Given the description of an element on the screen output the (x, y) to click on. 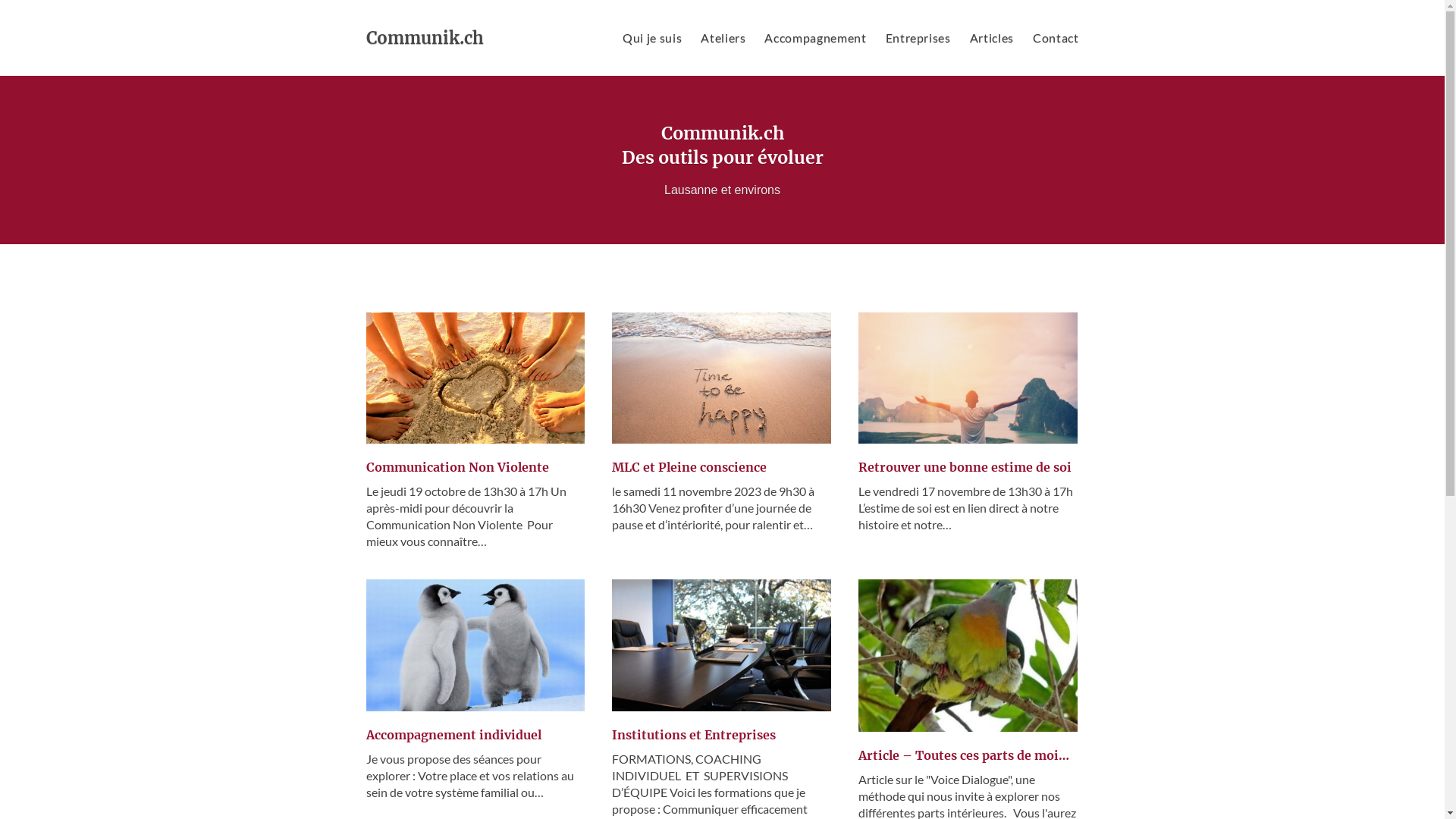
Entreprises Element type: text (917, 37)
MLC et Pleine conscience Element type: text (688, 466)
Accompagnement individuel Element type: text (452, 734)
Institutions et Entreprises Element type: hover (721, 644)
Articles Element type: text (991, 37)
Communication Non Violente Element type: hover (474, 377)
Ateliers Element type: text (722, 37)
Institutions et Entreprises Element type: text (693, 734)
Retrouver une bonne estime de soi Element type: hover (967, 377)
MLC et Pleine conscience Element type: hover (721, 377)
Qui je suis Element type: text (651, 37)
Contact Element type: text (1055, 37)
Communik.ch Element type: text (424, 37)
Accompagnement Element type: text (815, 37)
Retrouver une bonne estime de soi Element type: text (964, 466)
Accompagnement individuel Element type: hover (474, 644)
Communication Non Violente Element type: text (456, 466)
